Given the description of an element on the screen output the (x, y) to click on. 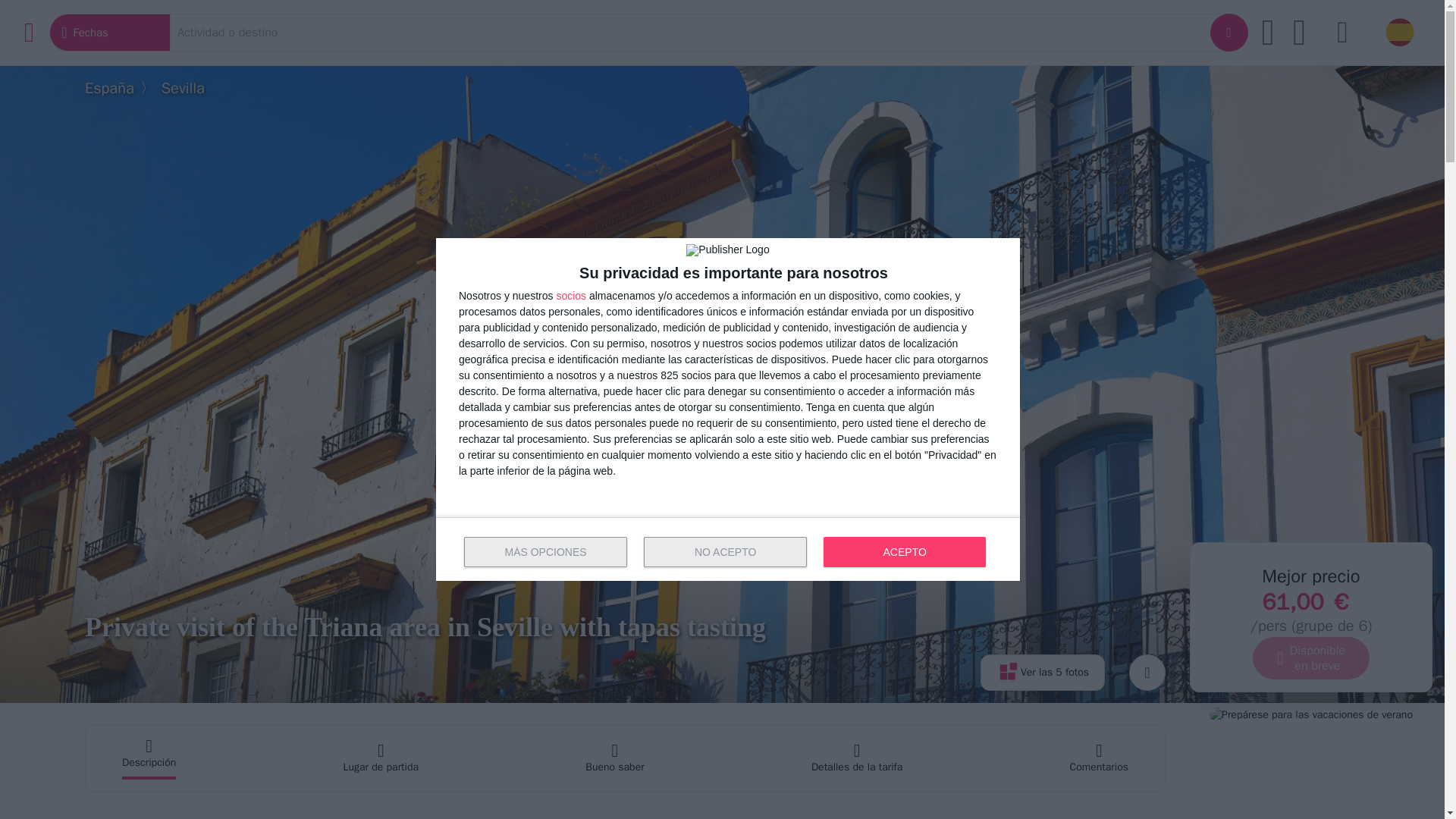
ACEPTO (904, 552)
NO ACEPTO (724, 552)
Lugar de partida (380, 758)
Comentarios (1099, 758)
Detalles de la tarifa (856, 758)
Lugar de partida (380, 758)
Comentarios (1099, 758)
Detalles de la tarifa (856, 758)
Sevilla (183, 87)
Bueno saber (614, 758)
Bueno saber (614, 758)
socios (571, 295)
Ver las 5 fotos (1042, 672)
